Given the description of an element on the screen output the (x, y) to click on. 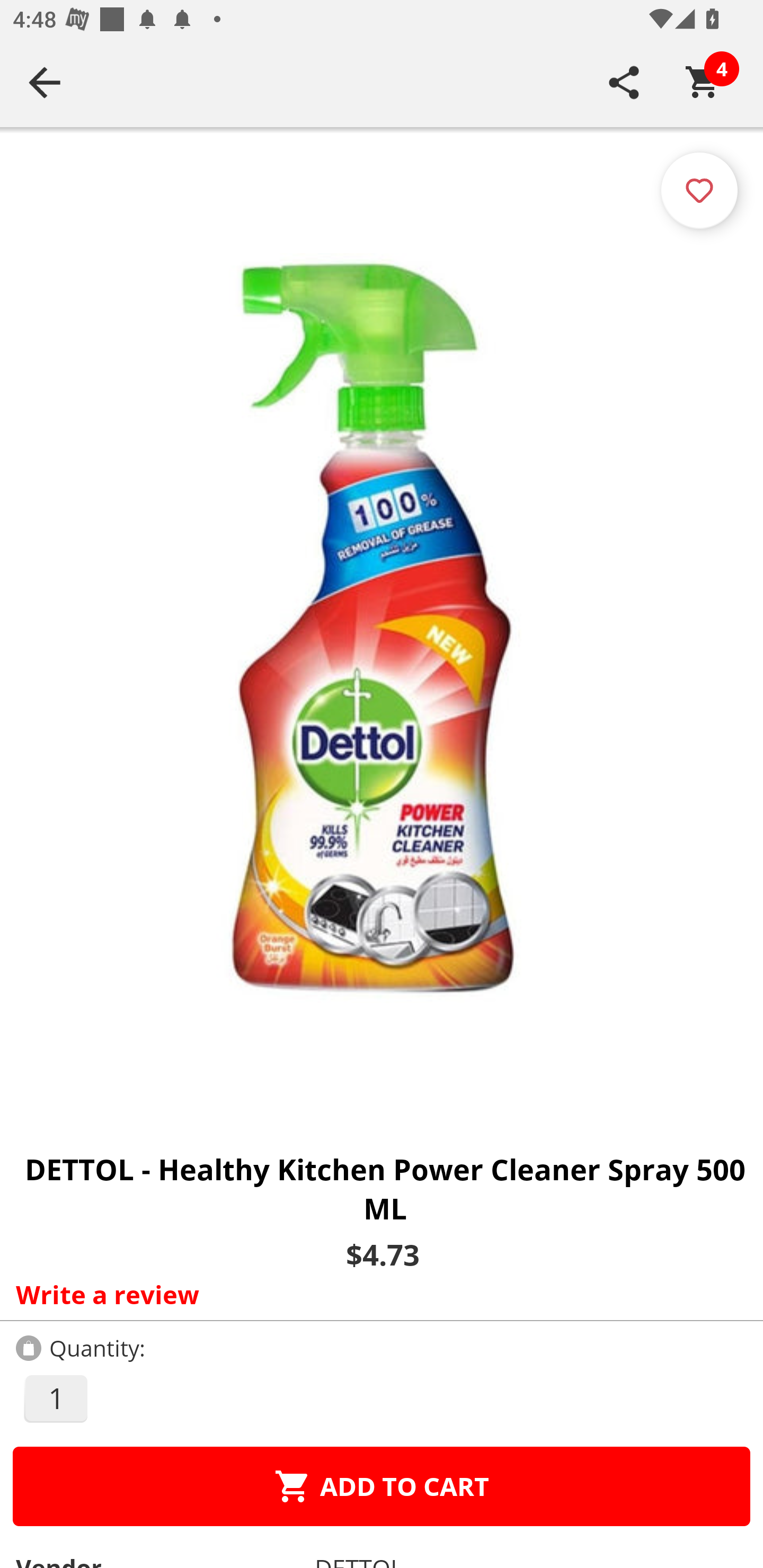
Navigate up (44, 82)
SHARE (623, 82)
Cart (703, 81)
Write a review (377, 1294)
1 (55, 1398)
ADD TO CART (381, 1486)
